Given the description of an element on the screen output the (x, y) to click on. 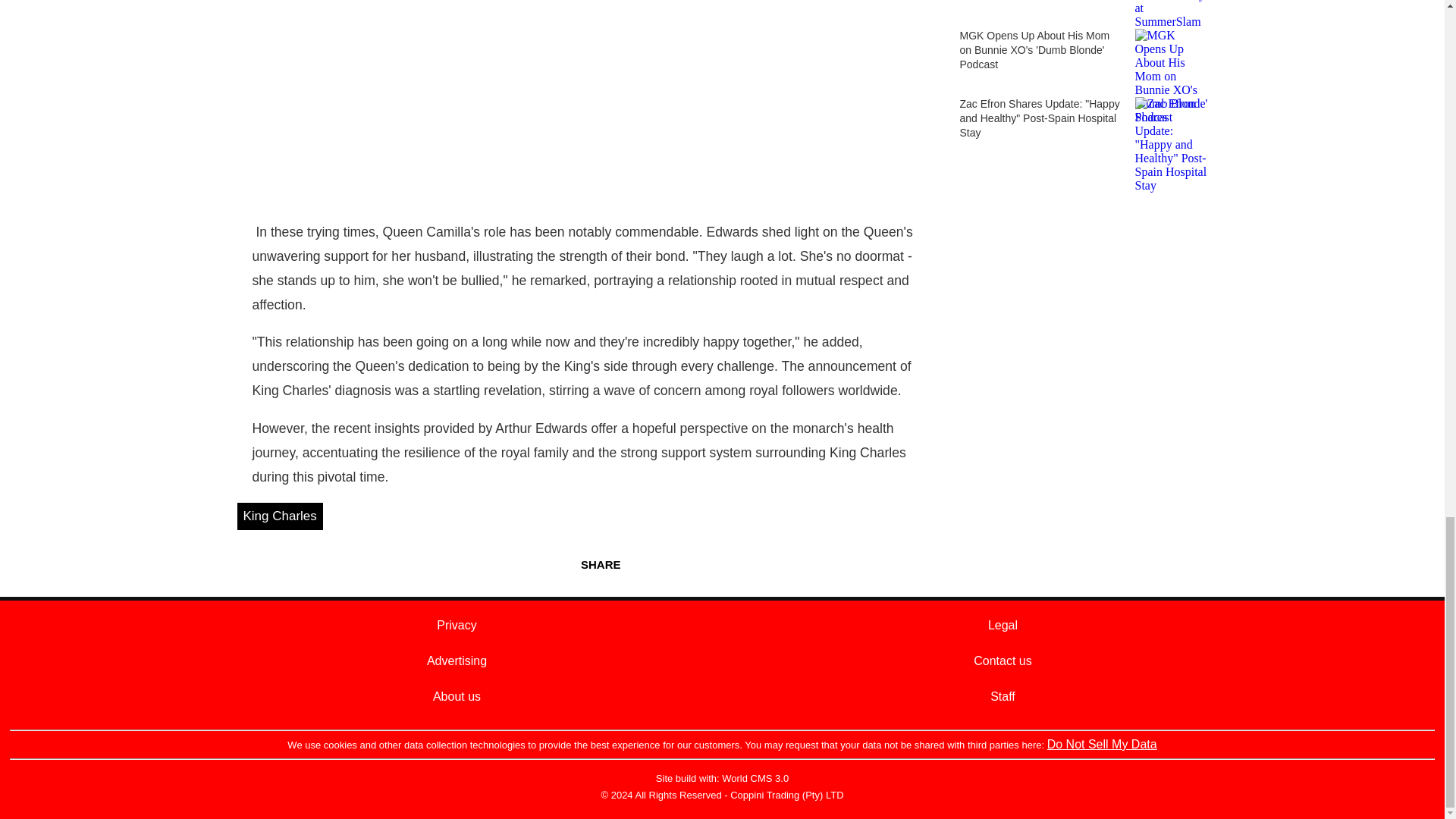
King Charles (278, 515)
